Given the description of an element on the screen output the (x, y) to click on. 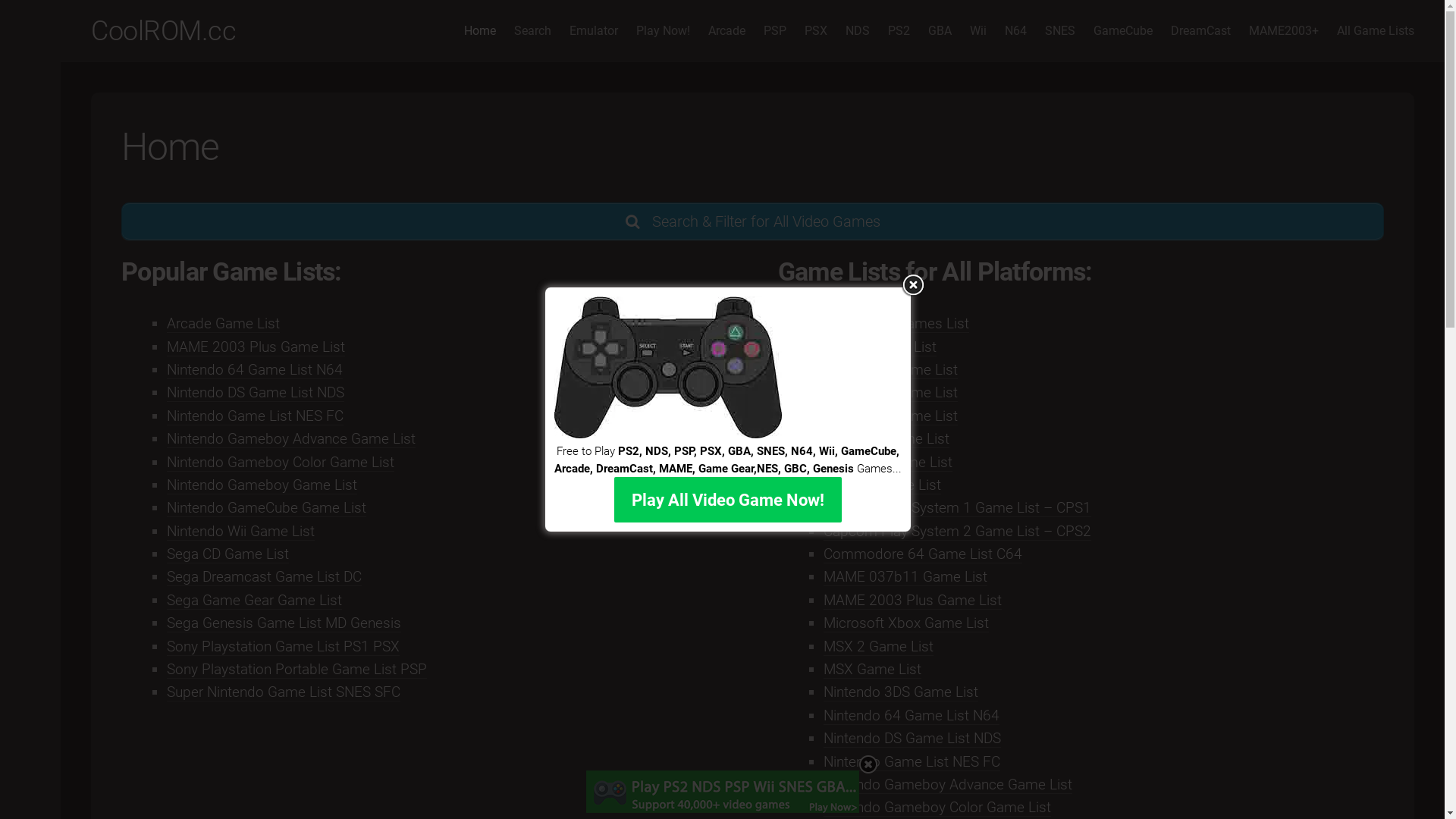
Sega Game Gear Game List Element type: text (254, 599)
Atari 800 Game List Element type: text (886, 438)
MAME2003+ Element type: text (1283, 30)
Atari 5200 Game List Element type: text (890, 392)
Arcade Game List Element type: text (879, 346)
DreamCast Element type: text (1200, 30)
Nintendo GameCube Game List Element type: text (266, 507)
Search & Filter for All Video Games Element type: text (752, 221)
SNES Element type: text (1059, 30)
Nintendo Game List NES FC Element type: text (254, 415)
Atari 7800 Game List Element type: text (890, 415)
NDS Element type: text (857, 30)
Nintendo DS Game List NDS Element type: text (255, 392)
Emulator Element type: text (593, 30)
All Game Lists Element type: text (1375, 30)
Arcade Element type: text (726, 30)
Nintendo Game List NES FC Element type: text (911, 761)
Nintendo Gameboy Game List Element type: text (261, 484)
Sony Playstation Game List PS1 PSX Element type: text (282, 646)
Home Element type: text (479, 30)
Atari Lynx Game List Element type: text (887, 461)
Search Element type: text (532, 30)
Sony Playstation Portable Game List PSP Element type: text (296, 668)
Nintendo 64 Game List N64 Element type: text (254, 369)
Sega CD Game List Element type: text (227, 553)
Nintendo DS Game List NDS Element type: text (912, 737)
Nintendo 64 Game List N64 Element type: text (911, 715)
Arcade Game List Element type: text (222, 323)
Microsoft Xbox Game List Element type: text (905, 622)
Nintendo Gameboy Advance Game List Element type: text (290, 438)
Amiga 500 Games List Element type: text (896, 323)
PSP Element type: text (774, 30)
Sega Dreamcast Game List DC Element type: text (263, 576)
Nintendo Gameboy Advance Game List Element type: text (947, 784)
N64 Element type: text (1015, 30)
Nintendo 3DS Game List Element type: text (900, 691)
Sega Genesis Game List MD Genesis Element type: text (283, 622)
GameCube Element type: text (1122, 30)
PSX Element type: text (815, 30)
GBA Element type: text (939, 30)
Atari 2600 Game List Element type: text (890, 369)
MAME 2003 Plus Game List Element type: text (255, 346)
CoolROM.cc Element type: text (163, 30)
Nintendo Gameboy Color Game List Element type: text (280, 461)
Play All Video Game Now! Element type: text (727, 499)
Atari ST Game List Element type: text (882, 484)
MAME 2003 Plus Game List Element type: text (912, 599)
Commodore 64 Game List C64 Element type: text (922, 553)
PS2 Element type: text (899, 30)
MSX 2 Game List Element type: text (878, 646)
Super Nintendo Game List SNES SFC Element type: text (283, 691)
Nintendo Wii Game List Element type: text (240, 530)
Nintendo Gameboy Color Game List Element type: text (937, 806)
Wii Element type: text (977, 30)
MAME 037b11 Game List Element type: text (905, 576)
Play Now! Element type: text (663, 30)
MSX Game List Element type: text (872, 668)
